Given the description of an element on the screen output the (x, y) to click on. 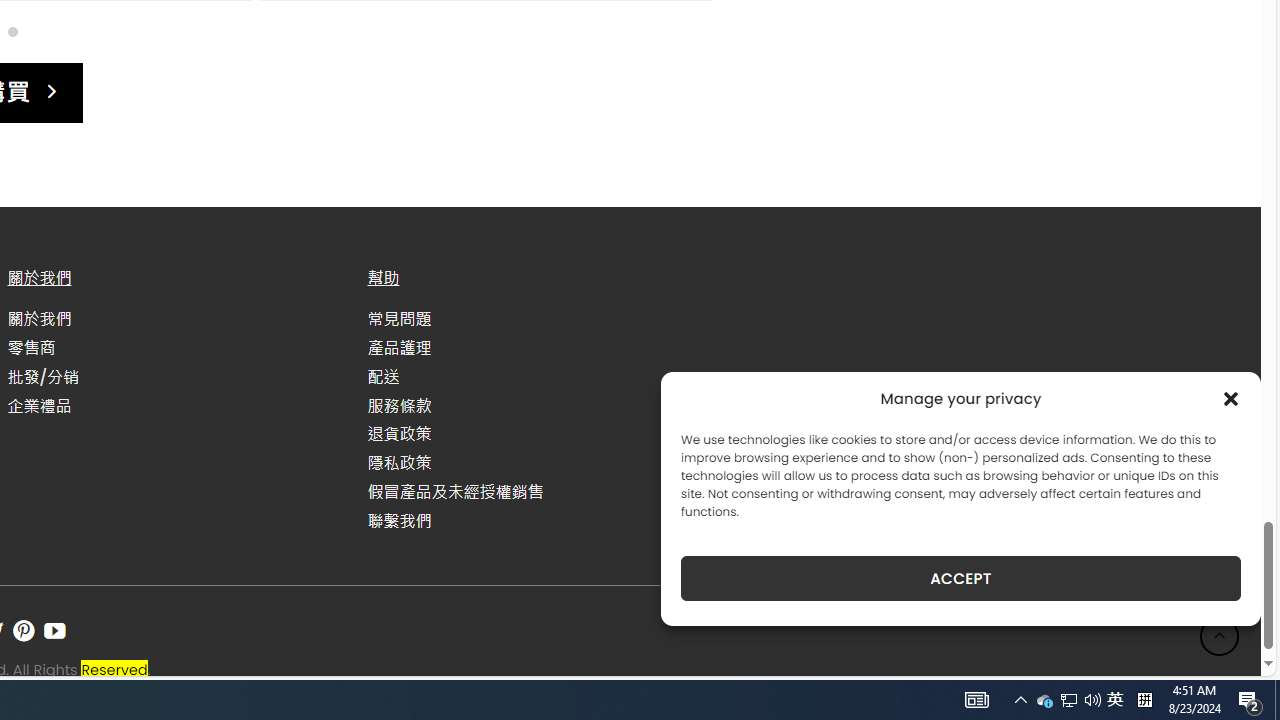
Follow on Pinterest (23, 631)
Page dot 3 (11, 30)
ACCEPT (960, 578)
